Given the description of an element on the screen output the (x, y) to click on. 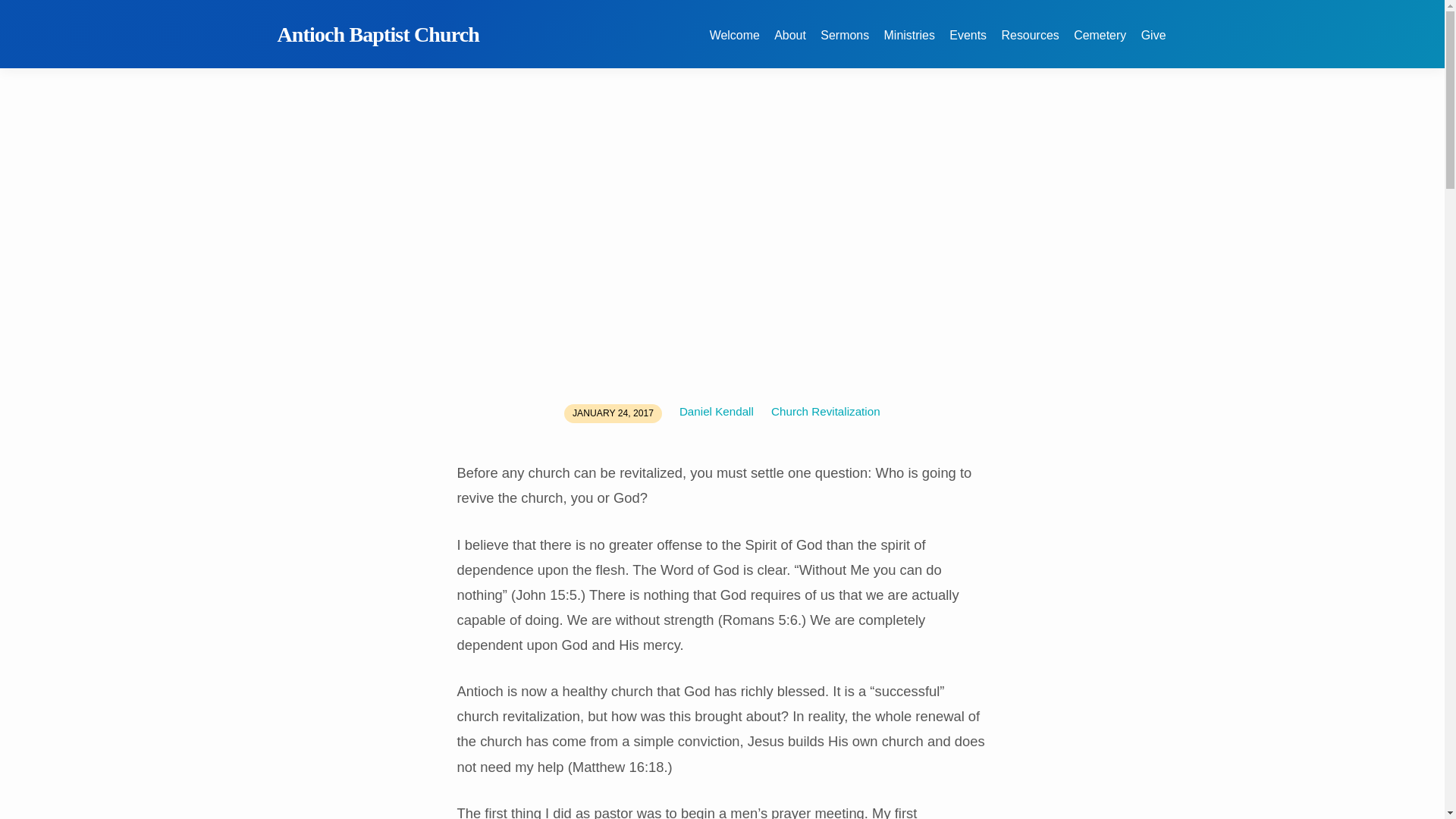
Cemetery (1099, 44)
Sermons (845, 44)
Church Revitalization (825, 410)
Resources (1030, 44)
Daniel Kendall (716, 410)
Events (968, 44)
Antioch Baptist Church (379, 33)
Welcome (735, 44)
Ministries (908, 44)
